Given the description of an element on the screen output the (x, y) to click on. 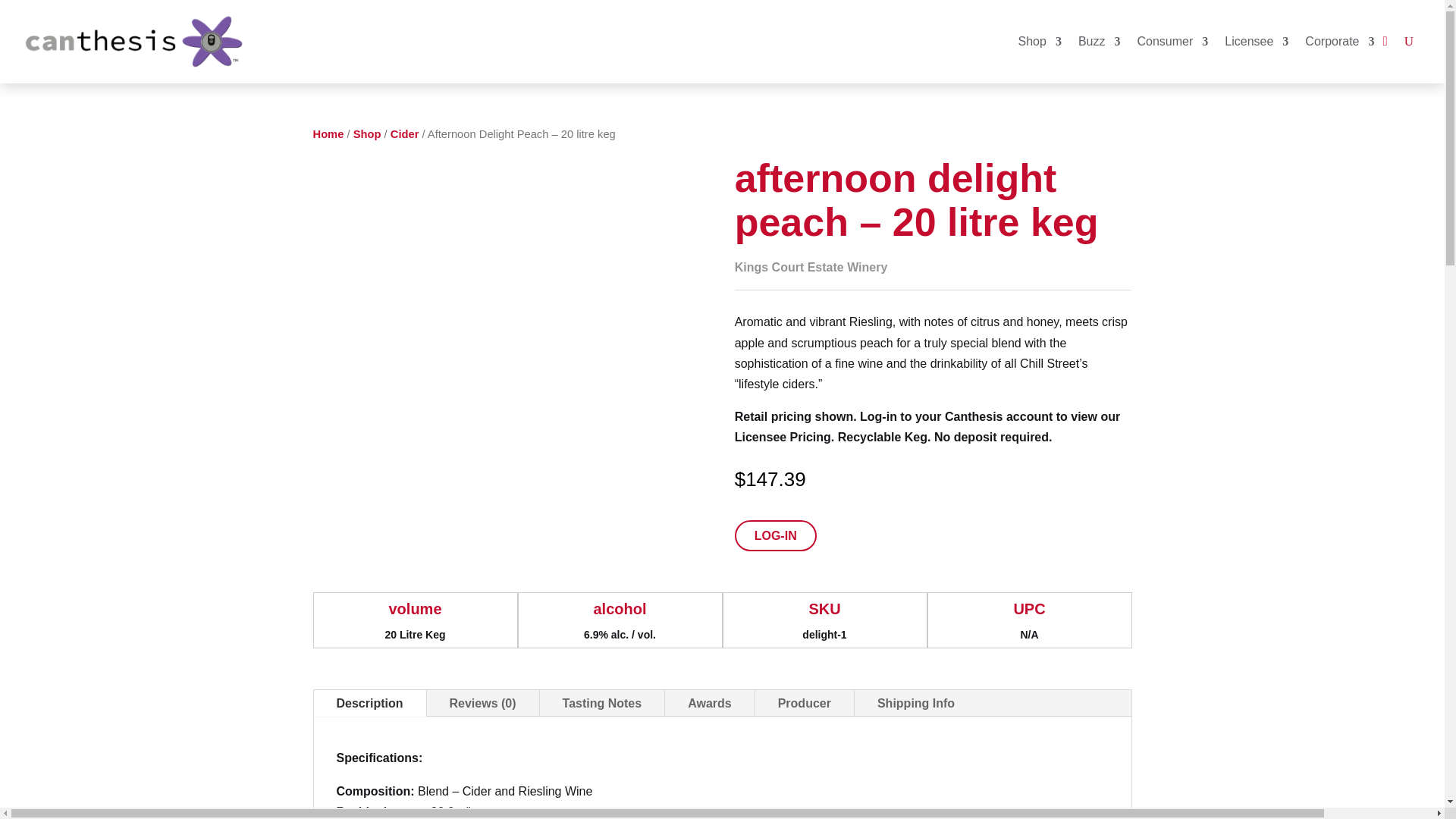
Licensee (1256, 41)
Consumer (1172, 41)
Corporate (1339, 41)
